Given the description of an element on the screen output the (x, y) to click on. 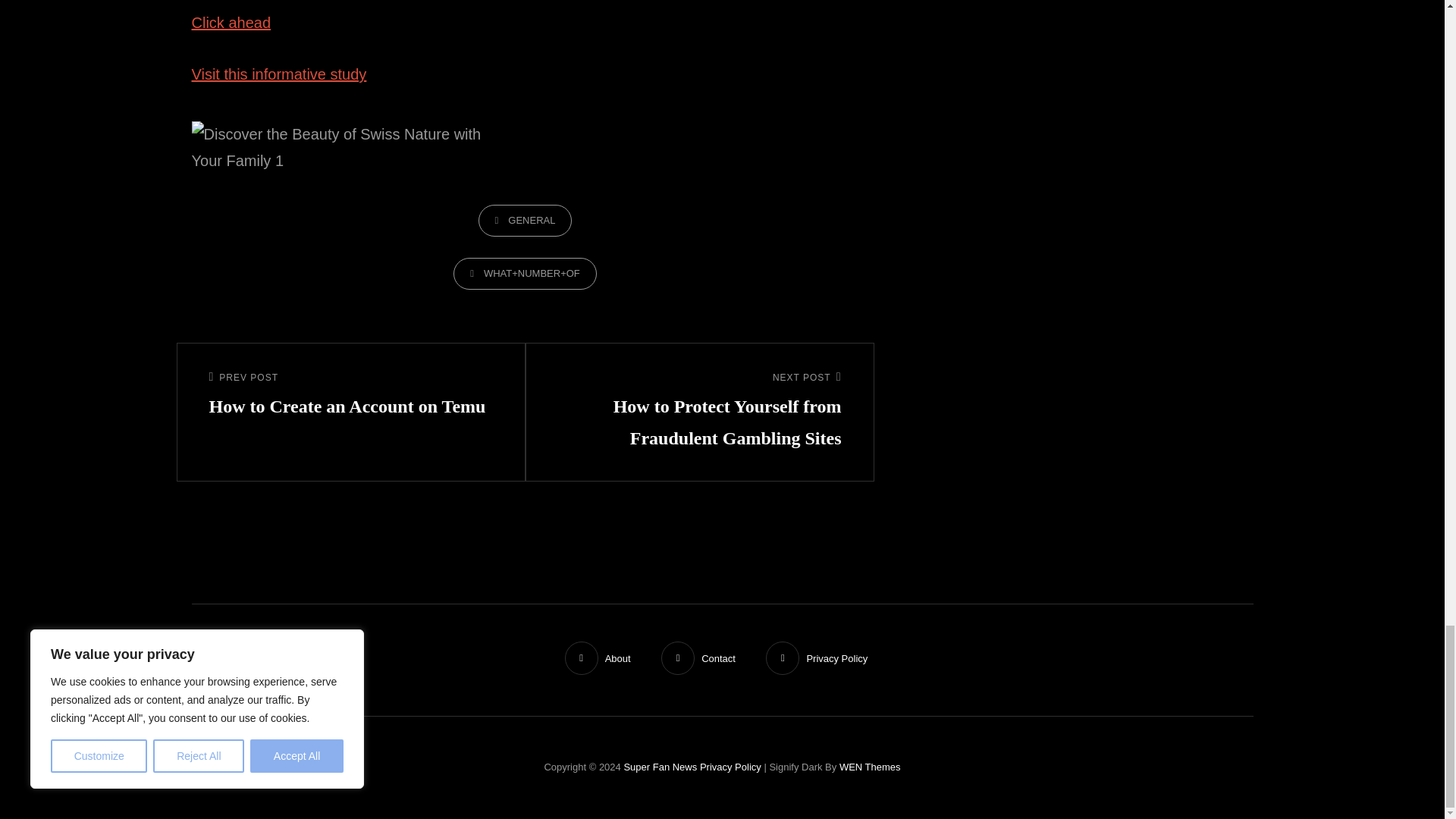
GENERAL (525, 219)
Click ahead (351, 395)
Visit this informative study (230, 22)
